Given the description of an element on the screen output the (x, y) to click on. 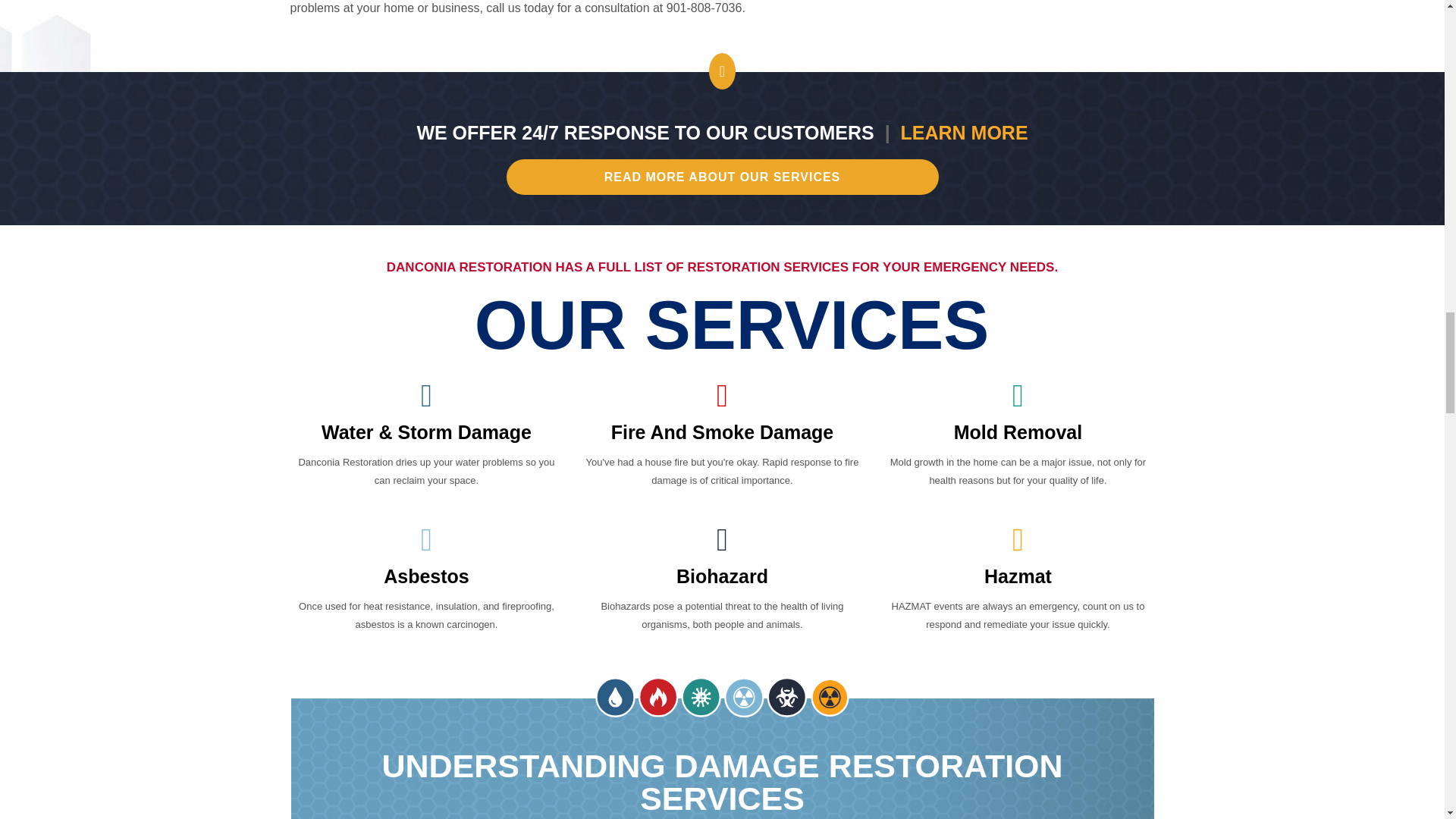
Click me (722, 176)
